Given the description of an element on the screen output the (x, y) to click on. 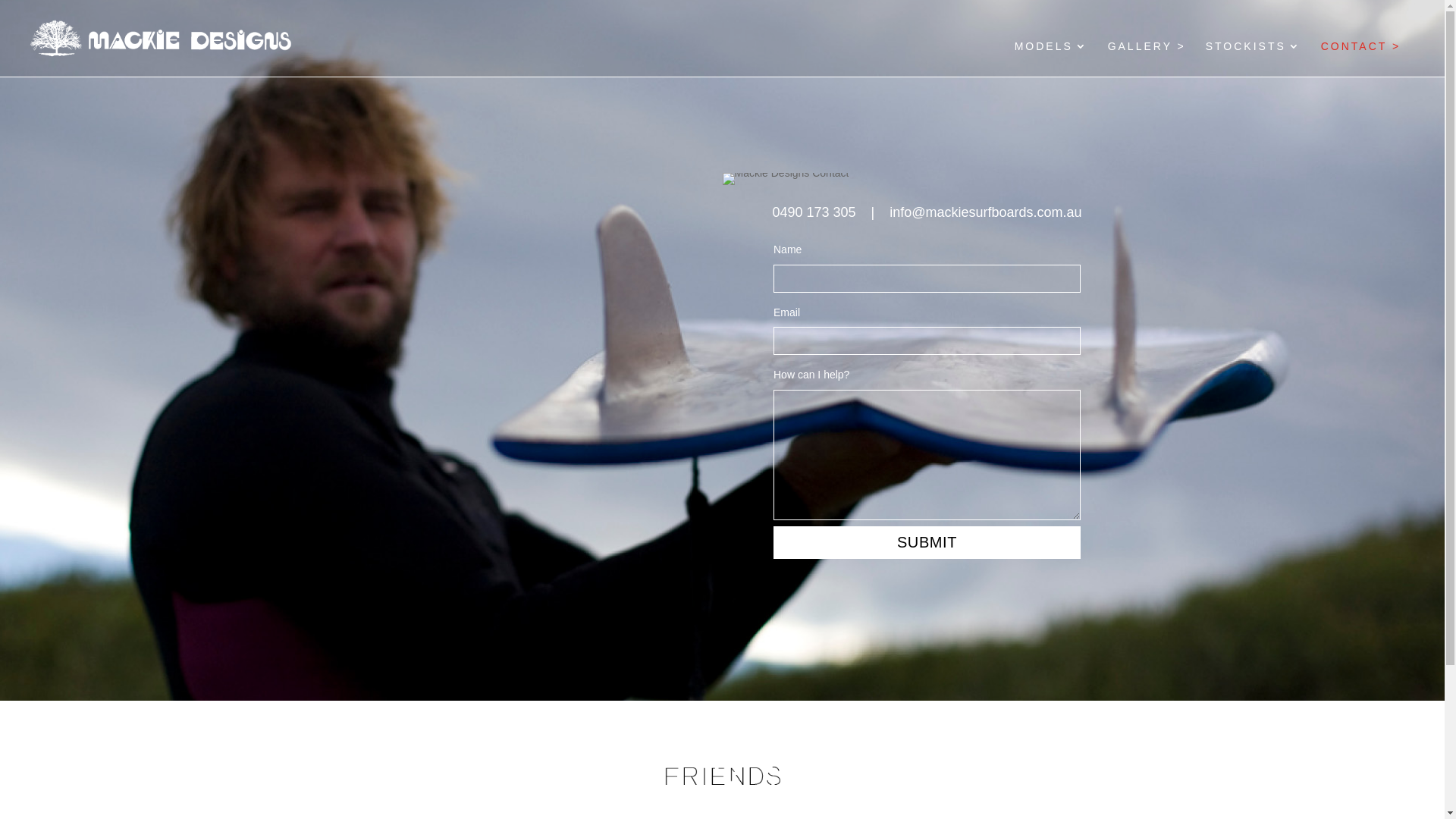
GALLERY > Element type: text (1146, 58)
STOCKISTS Element type: text (1253, 58)
info@mackiesurfboards.com.au Element type: text (985, 211)
Mackie Designs Contact Element type: hover (784, 178)
CONTACT > Element type: text (1360, 58)
Submit Element type: text (926, 542)
MODELS Element type: text (1051, 58)
